Given the description of an element on the screen output the (x, y) to click on. 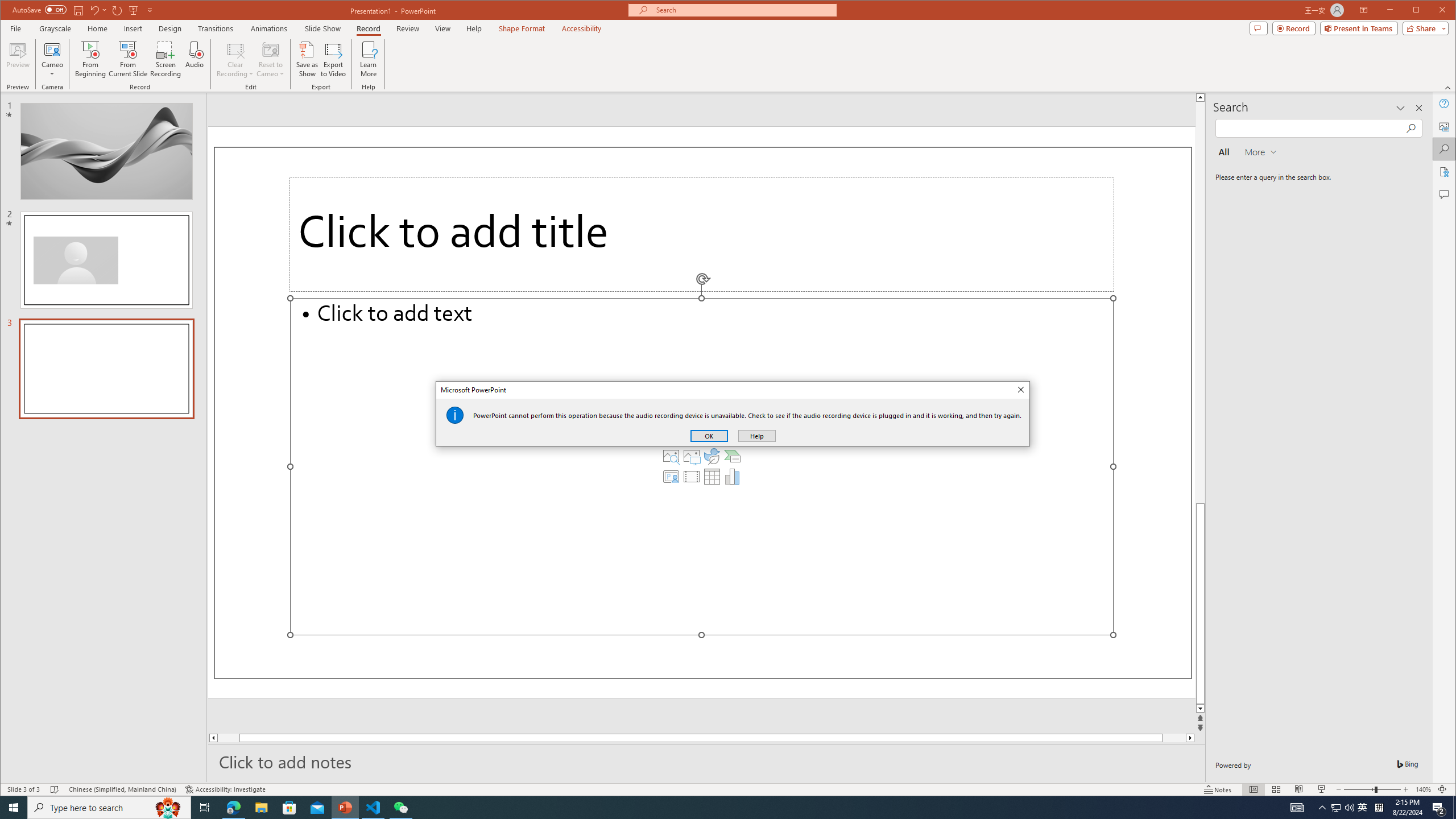
Save as Show (307, 59)
Screen Recording (165, 59)
